Given the description of an element on the screen output the (x, y) to click on. 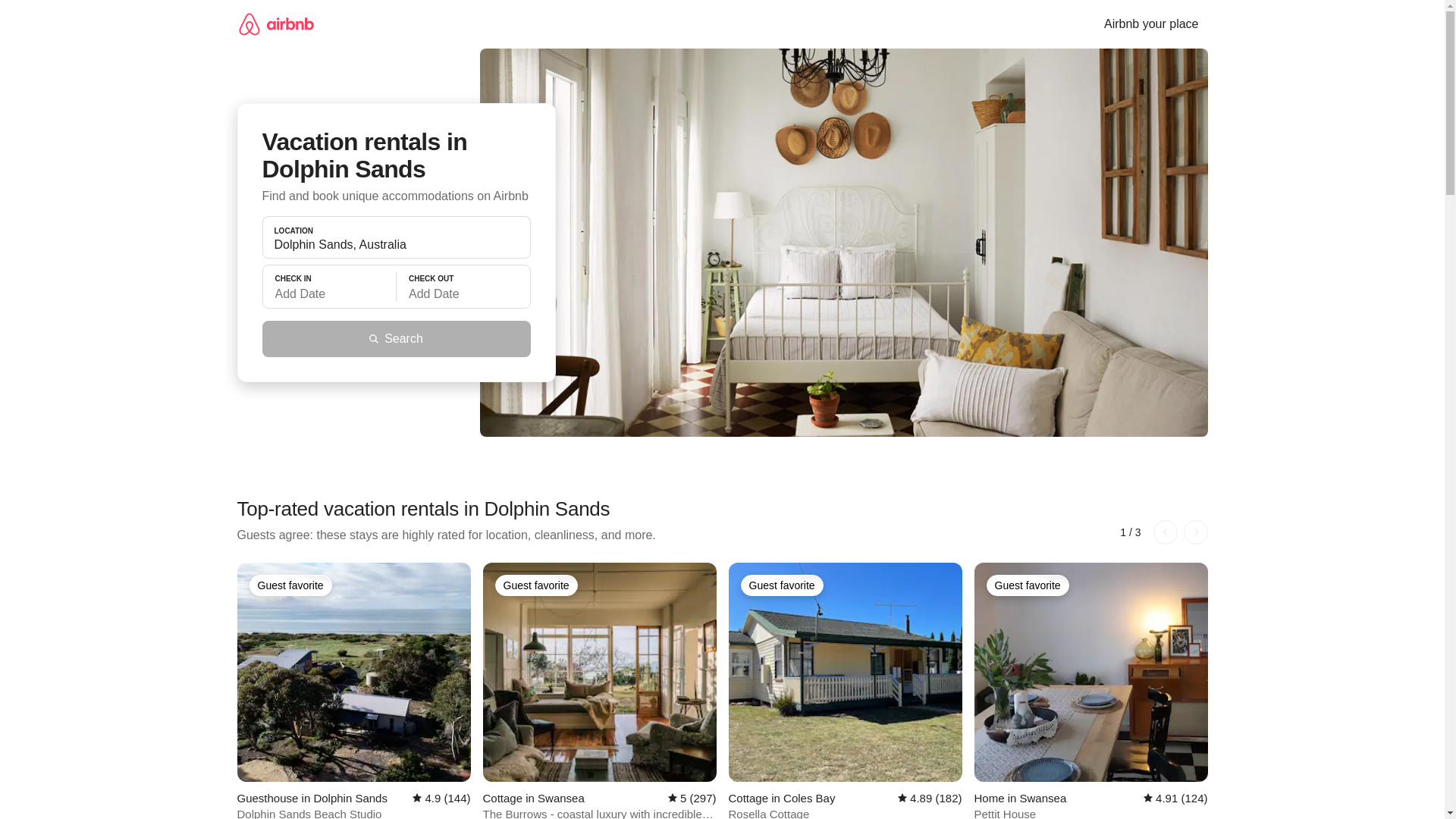
Search (396, 339)
Dolphin Sands, Australia (396, 244)
Airbnb your place (1151, 23)
